Given the description of an element on the screen output the (x, y) to click on. 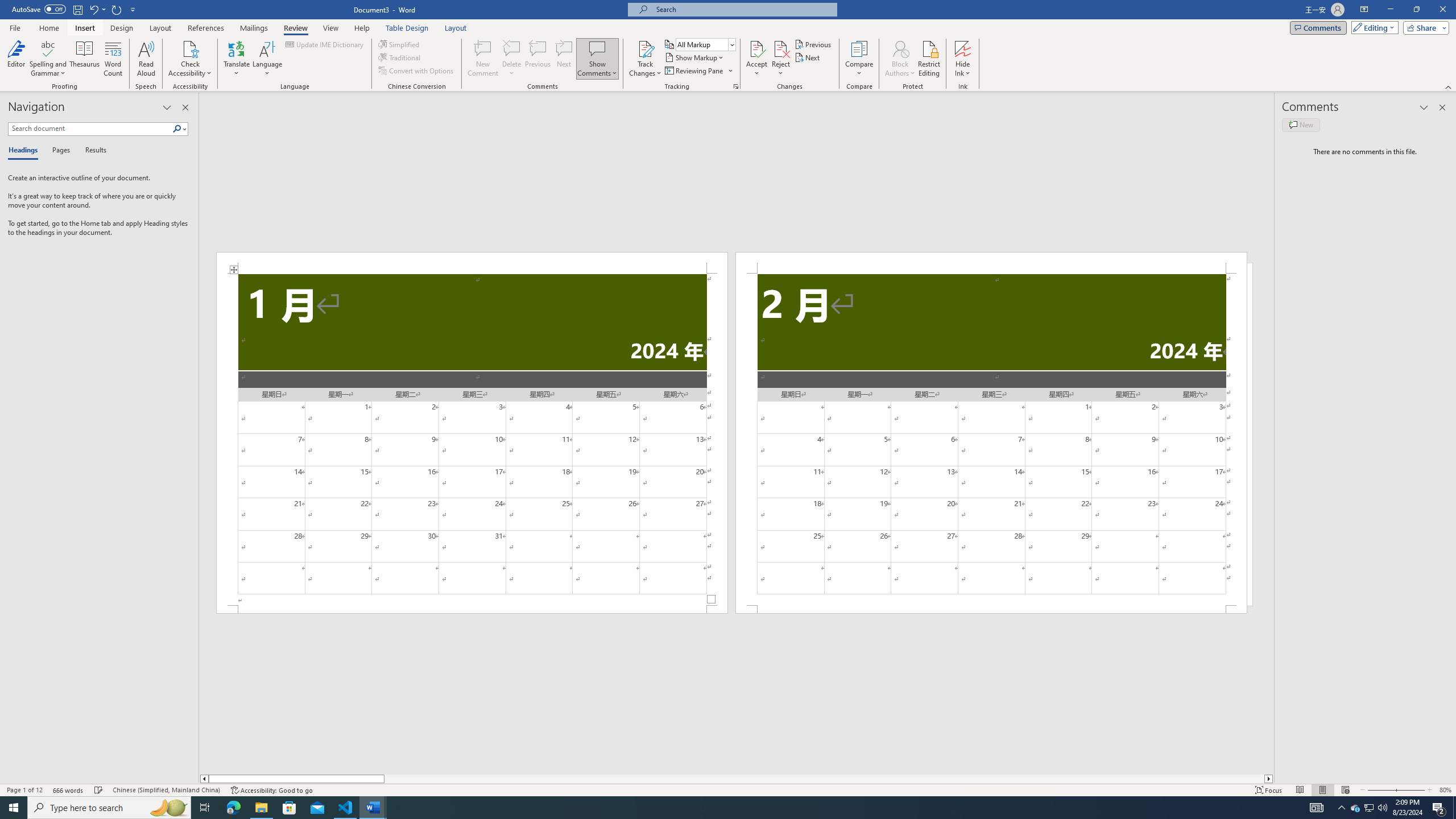
Accept and Move to Next (756, 48)
Next (808, 56)
Change Tracking Options... (735, 85)
